Given the description of an element on the screen output the (x, y) to click on. 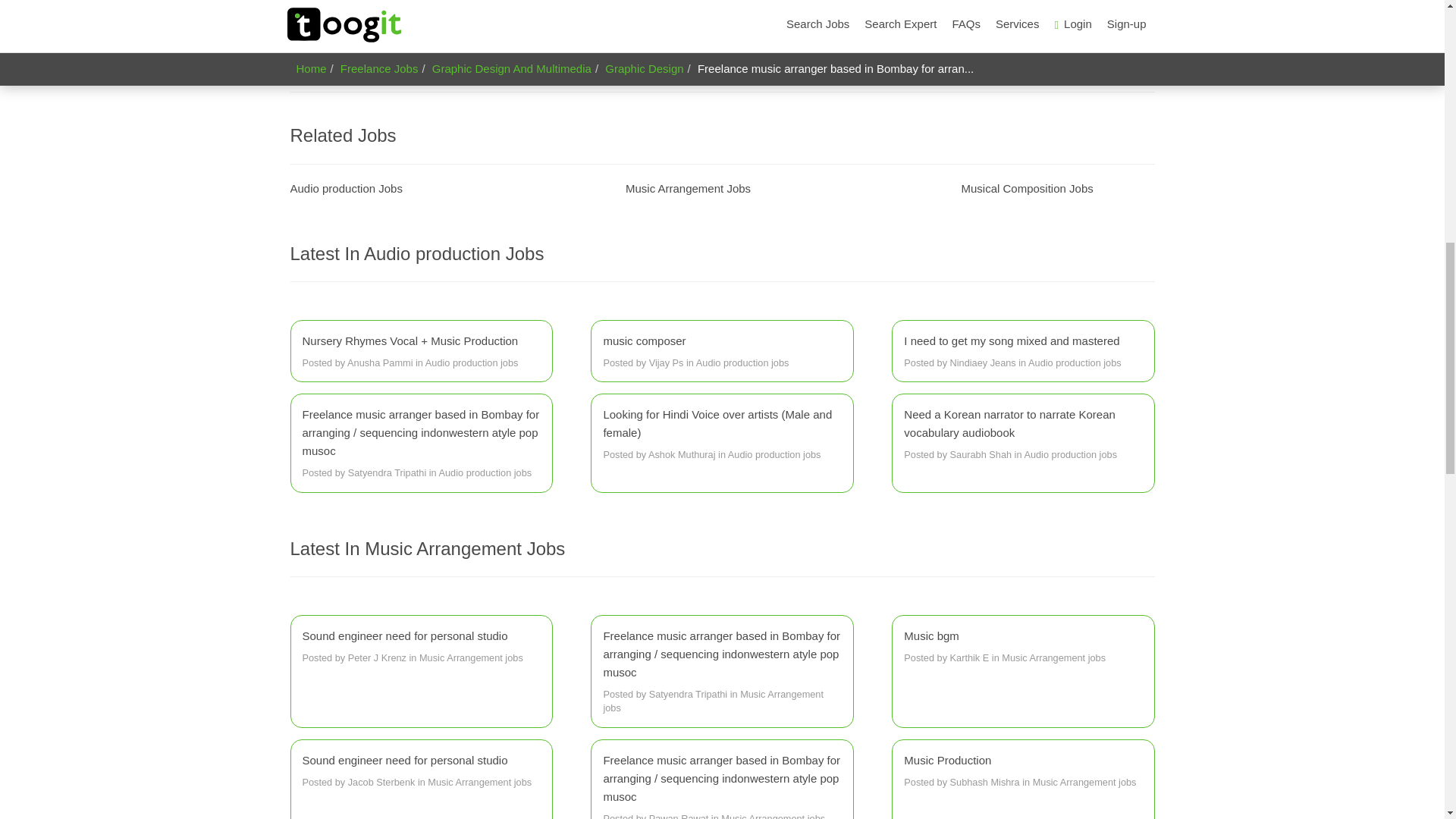
Graphic Design (732, 63)
Musical Composition Jobs (1026, 187)
Search Music Arrangement Jobs (688, 187)
In Music Arrangement: Music bgm (1022, 647)
Search Audio production Jobs (345, 187)
Audio production Jobs (345, 187)
Music Arrangement Jobs (688, 187)
Search Musical Composition Jobs (1026, 187)
